Given the description of an element on the screen output the (x, y) to click on. 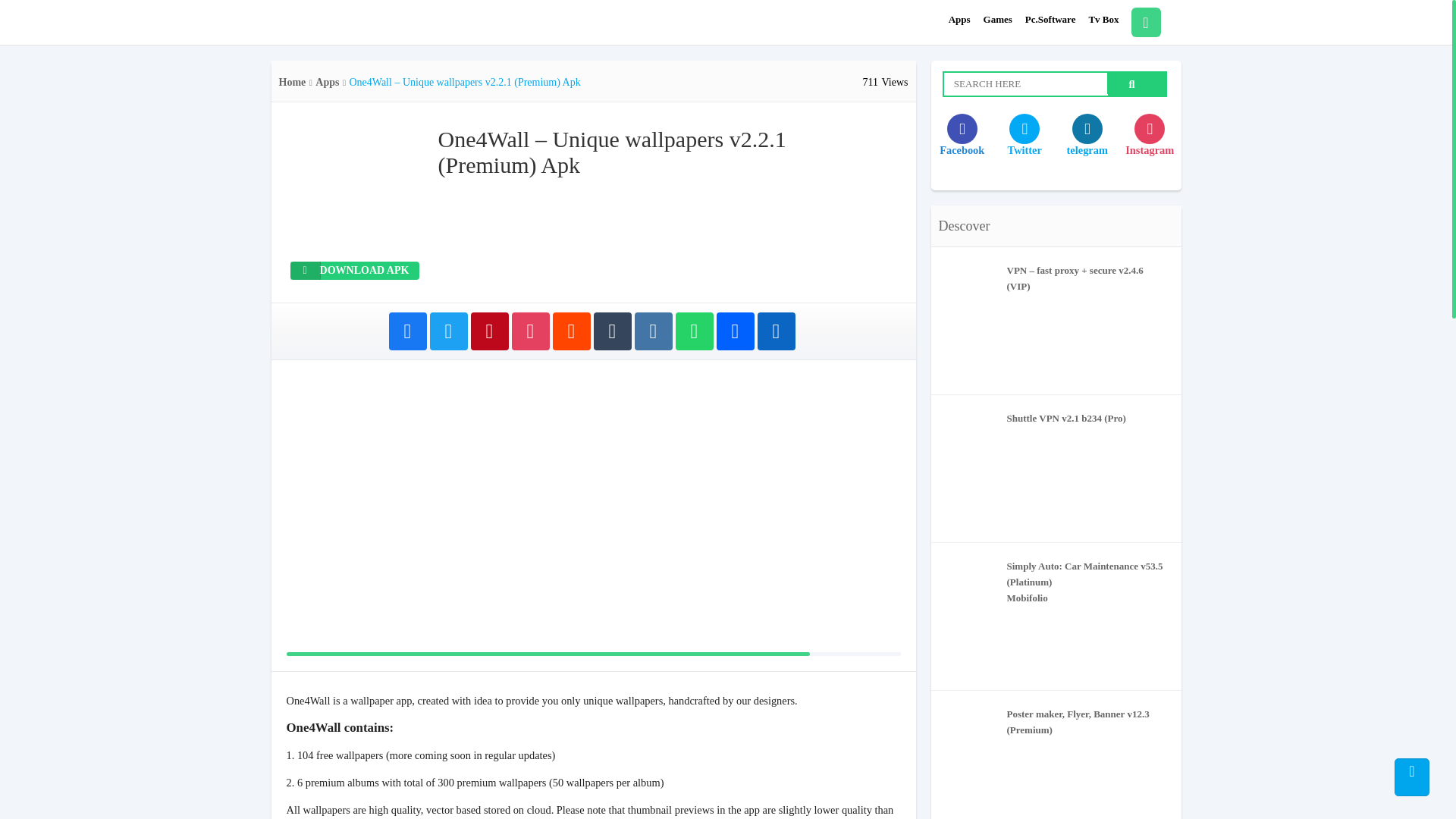
Apps (960, 19)
Apps (327, 81)
DOWNLOAD APK (354, 270)
Games (997, 19)
Tv Box (1102, 19)
Home (292, 81)
Pc.Software (1050, 19)
